Given the description of an element on the screen output the (x, y) to click on. 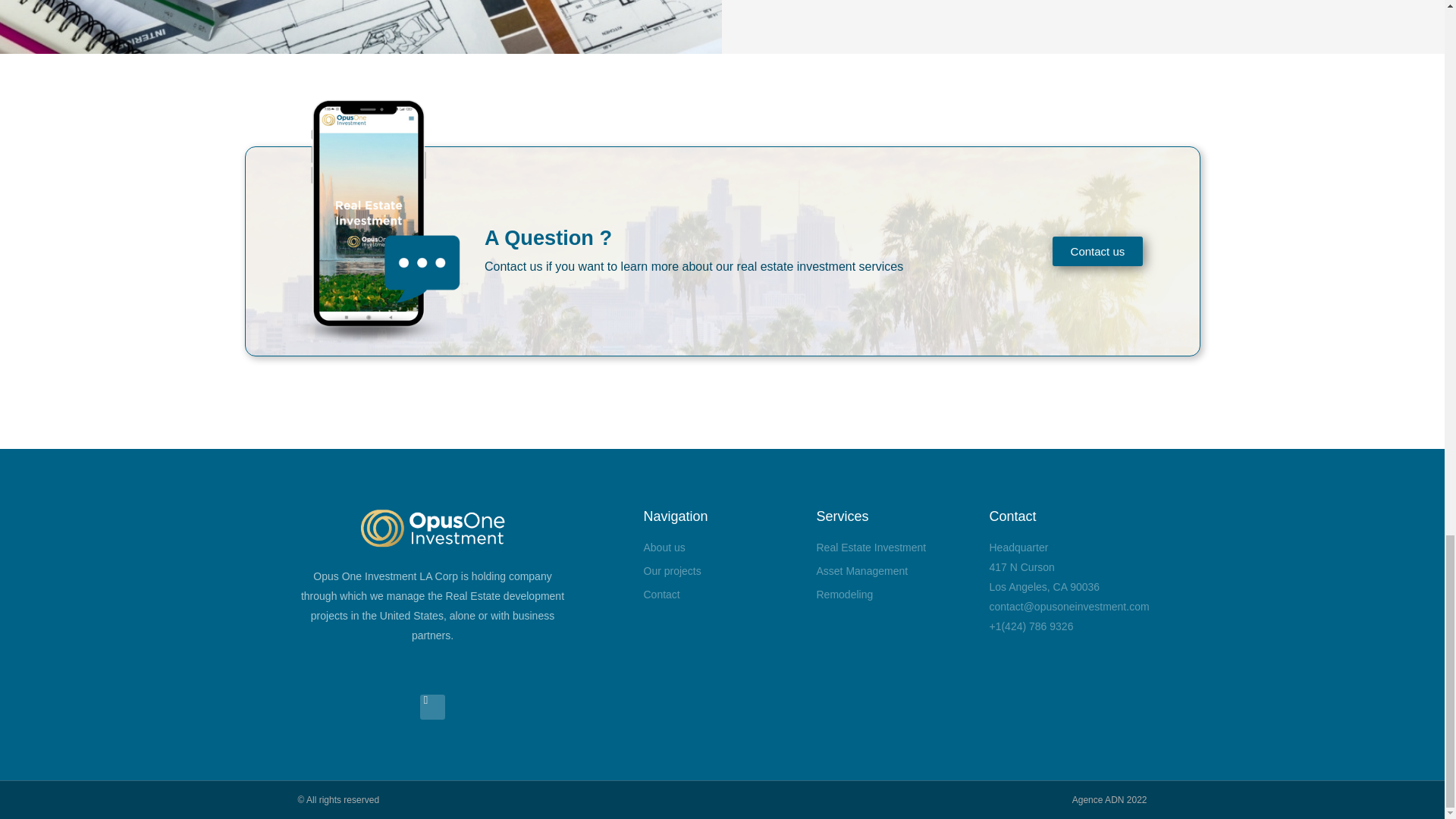
About us (721, 547)
Remodeling (894, 595)
Asset Management (894, 571)
Real Estate Investment (894, 547)
Contact (721, 595)
Contact us (1097, 251)
Our projects (721, 571)
